Given the description of an element on the screen output the (x, y) to click on. 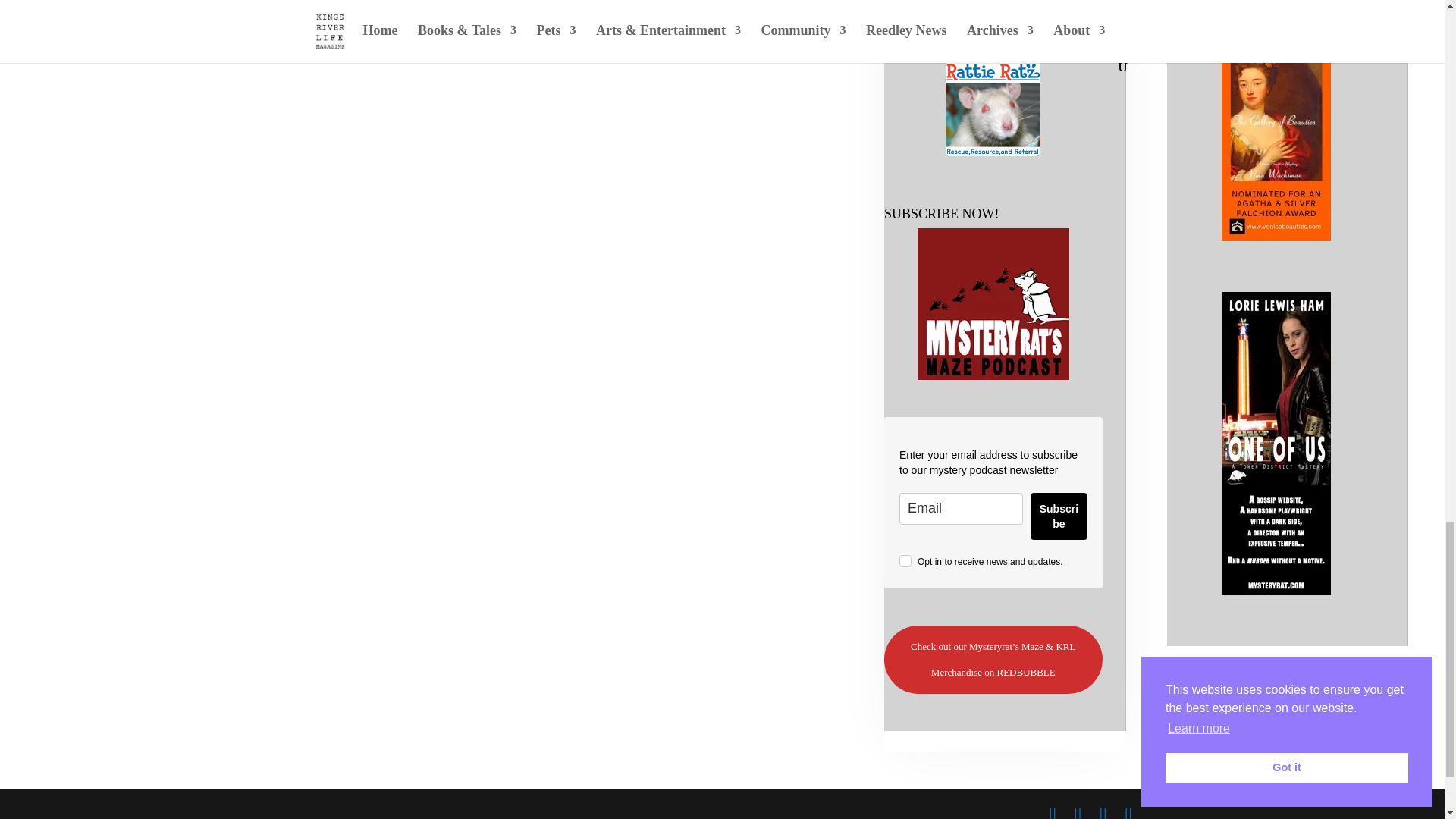
Subscribe now! (992, 304)
